Given the description of an element on the screen output the (x, y) to click on. 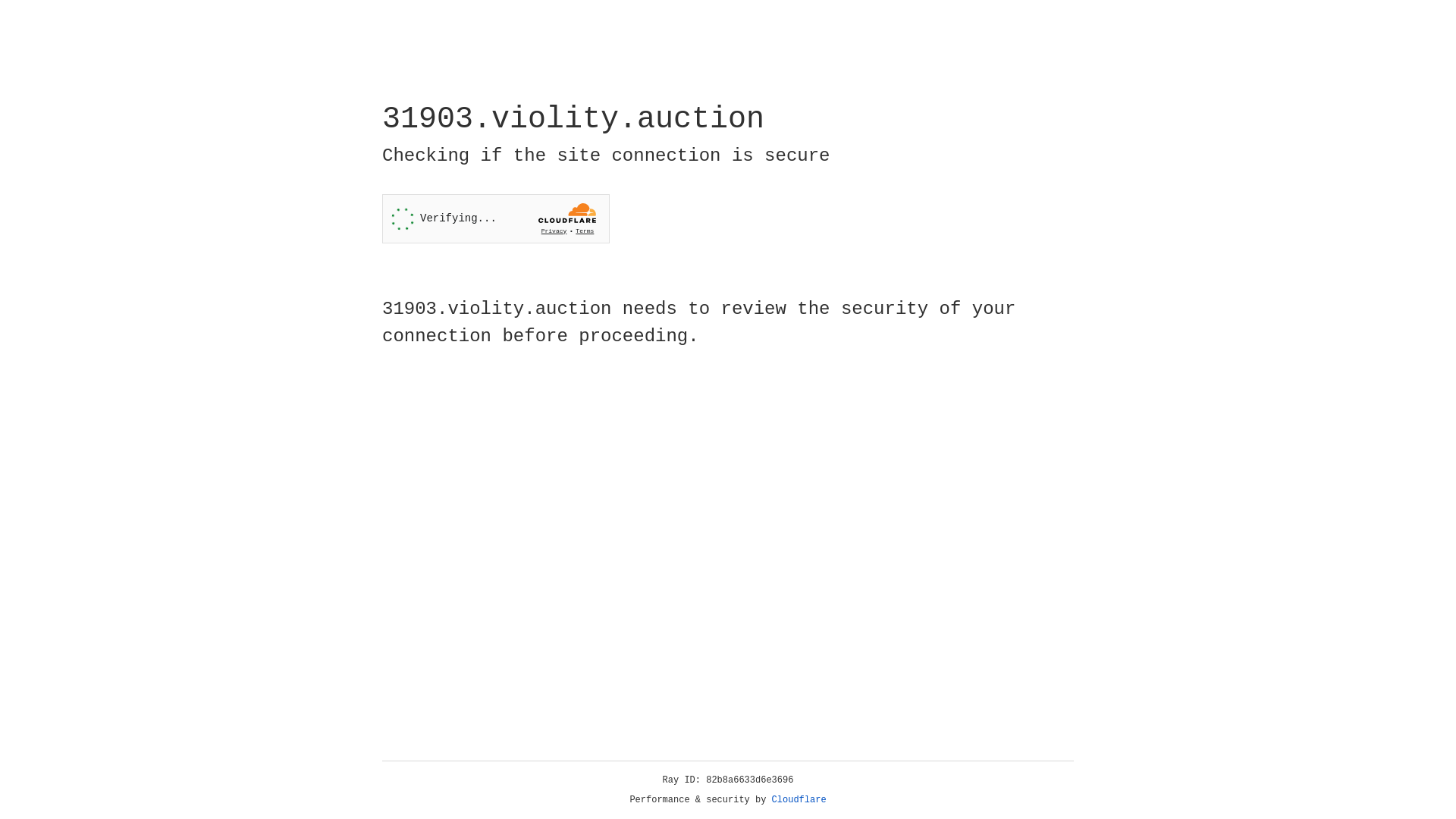
Widget containing a Cloudflare security challenge Element type: hover (495, 218)
Cloudflare Element type: text (798, 799)
